Given the description of an element on the screen output the (x, y) to click on. 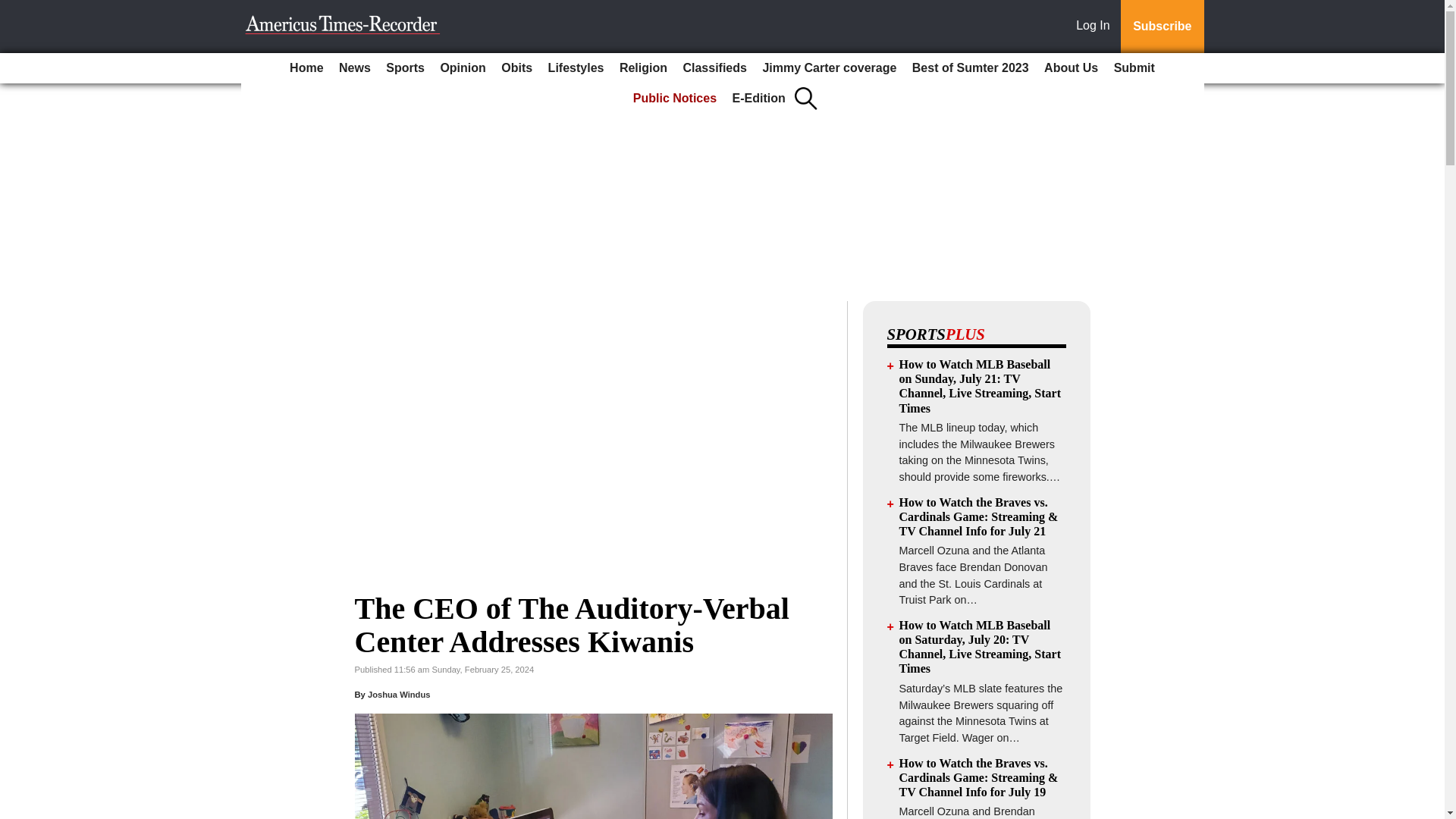
Lifestyles (575, 68)
Log In (1095, 26)
Opinion (462, 68)
About Us (1070, 68)
Public Notices (674, 98)
Obits (516, 68)
Go (13, 9)
Classifieds (714, 68)
Subscribe (1162, 26)
Home (306, 68)
Joshua Windus (399, 694)
Best of Sumter 2023 (970, 68)
Religion (642, 68)
